Given the description of an element on the screen output the (x, y) to click on. 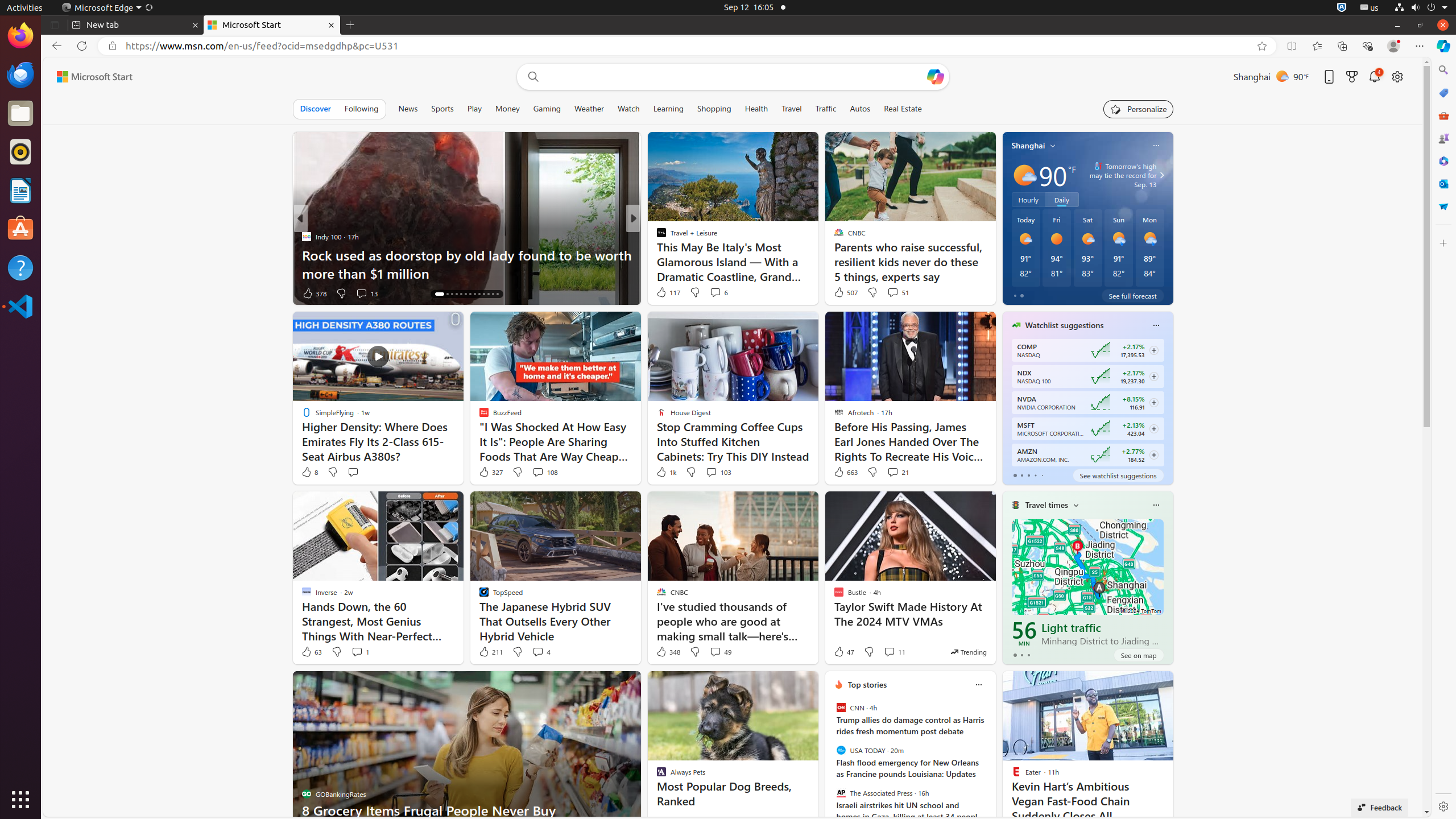
Visual Studio Code Element type: push-button (20, 306)
View comments 1 Comment Element type: push-button (356, 651)
Notifications Element type: push-button (1374, 76)
Skip to content Element type: push-button (90, 76)
5 Like Element type: toggle-button (660, 292)
